Given the description of an element on the screen output the (x, y) to click on. 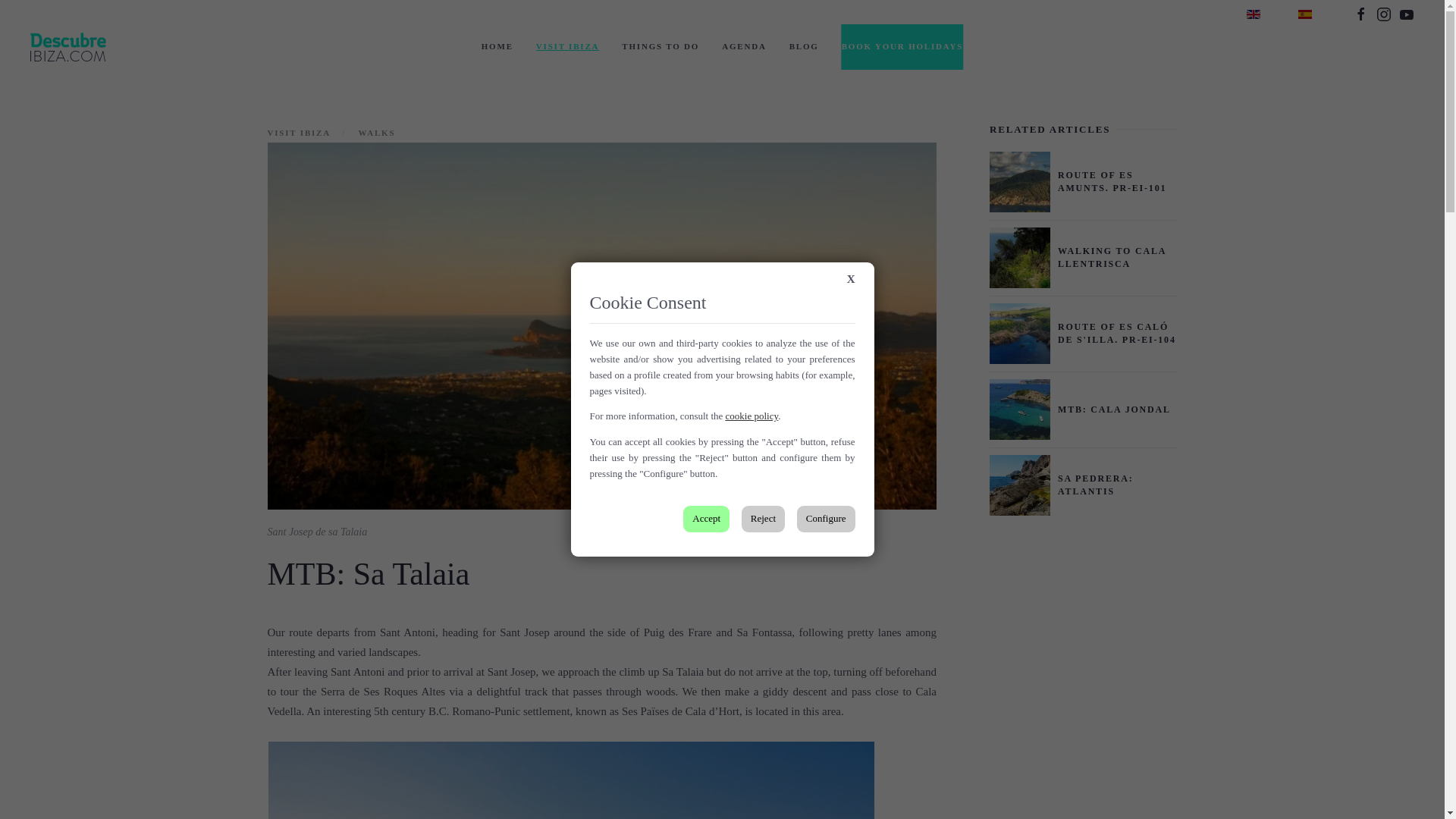
VISIT IBIZA (567, 46)
ES (1304, 13)
EN (1253, 13)
THINGS TO DO (659, 46)
